Given the description of an element on the screen output the (x, y) to click on. 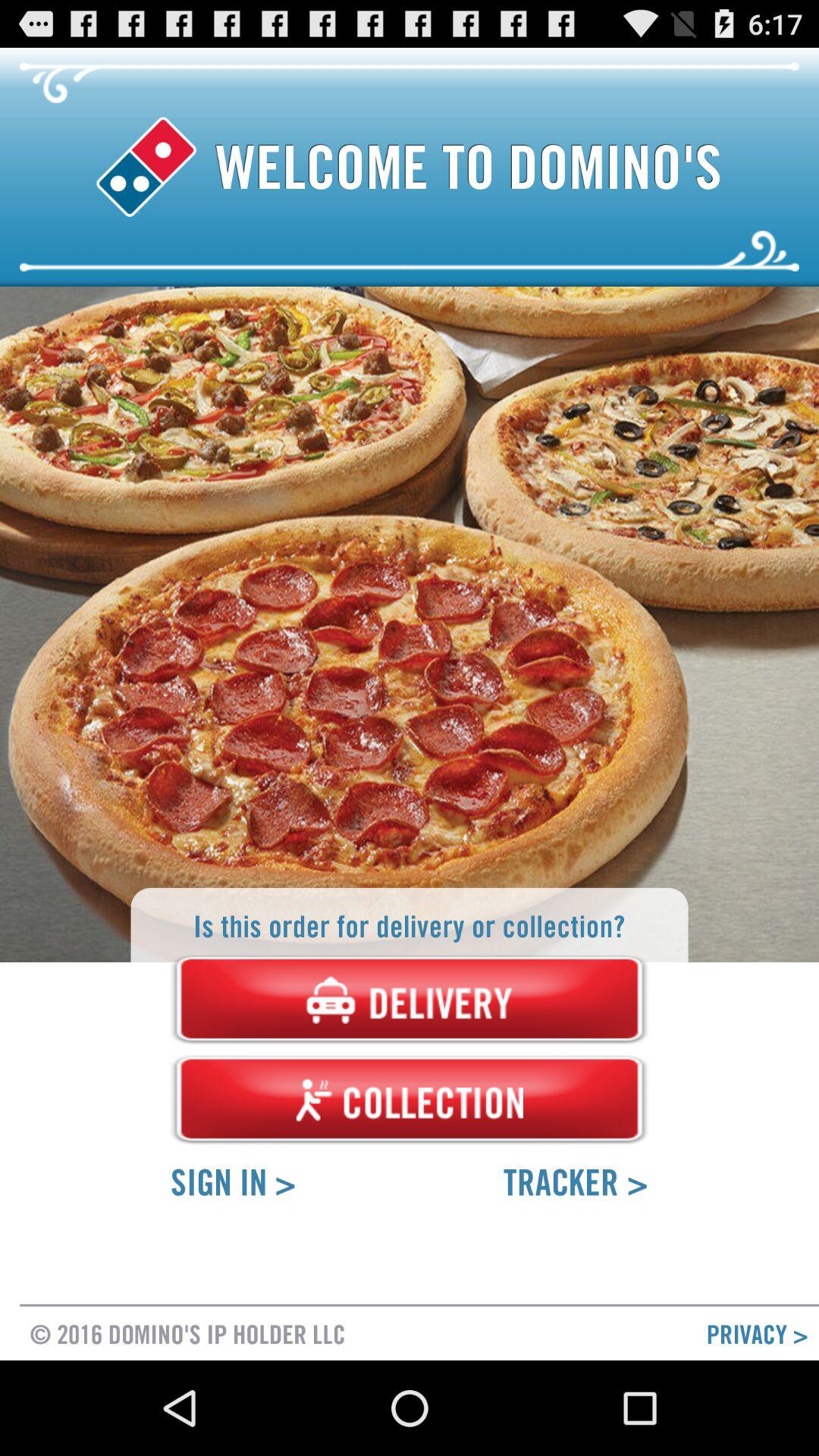
go to the text below delivery (409, 1099)
